Given the description of an element on the screen output the (x, y) to click on. 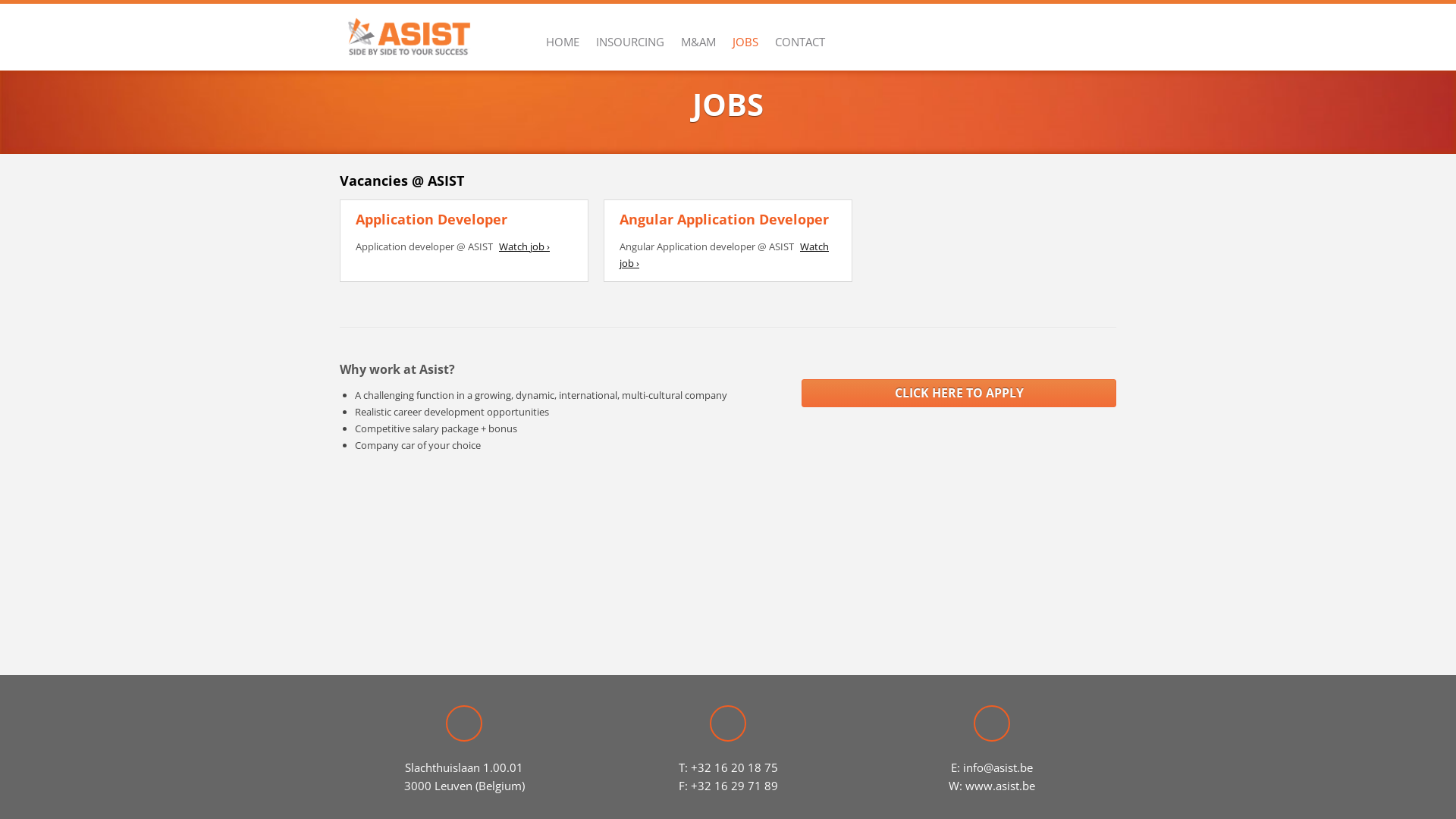
CONTACT Element type: text (799, 41)
INSOURCING Element type: text (629, 41)
M&AM Element type: text (697, 41)
CLICK HERE TO APPLY Element type: text (958, 393)
Application Developer Element type: text (431, 219)
HOME Element type: text (562, 41)
JOBS Element type: text (745, 41)
Angular Application Developer Element type: text (723, 219)
